Given the description of an element on the screen output the (x, y) to click on. 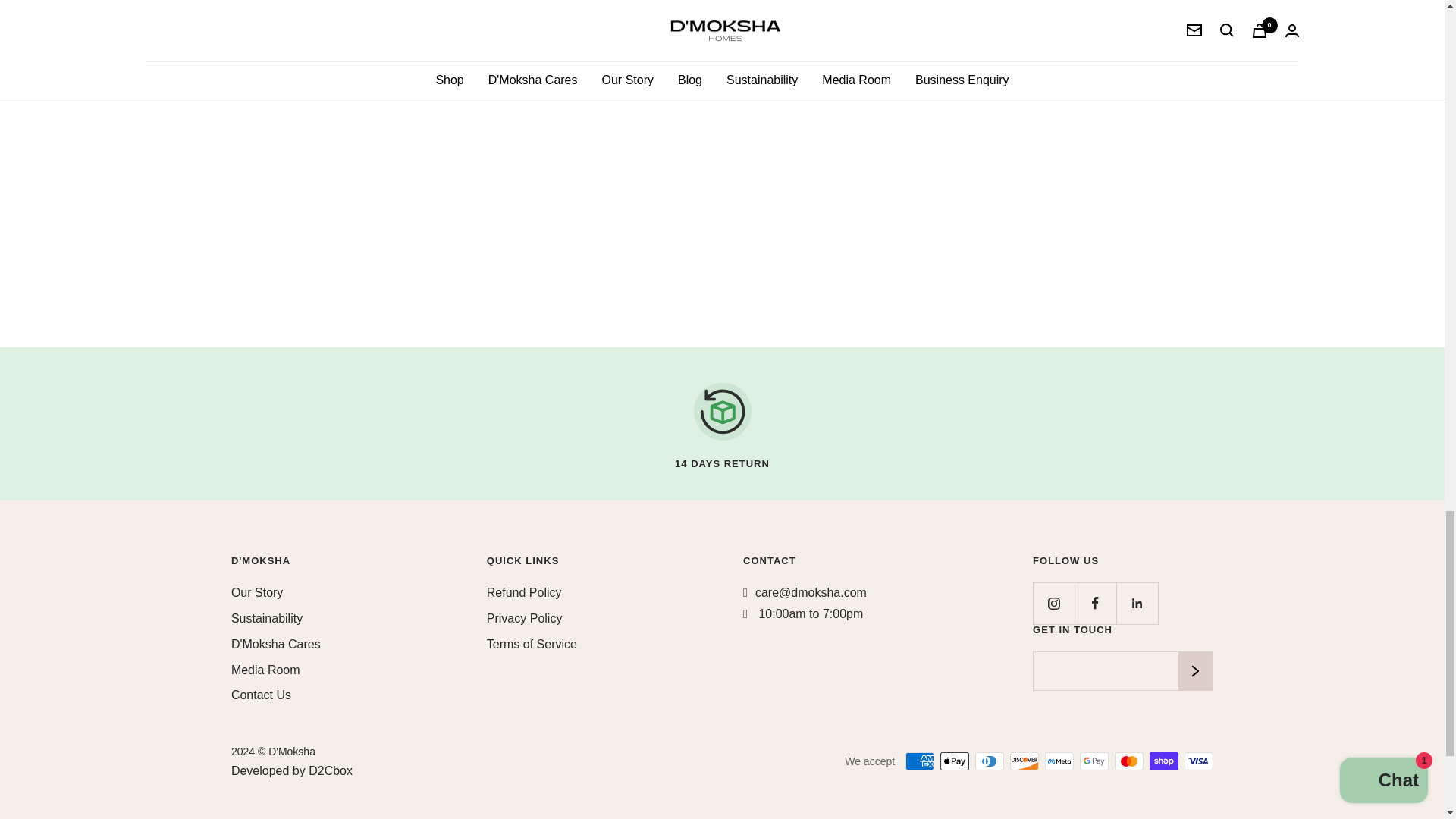
14 DAYS RETURN (721, 423)
